Given the description of an element on the screen output the (x, y) to click on. 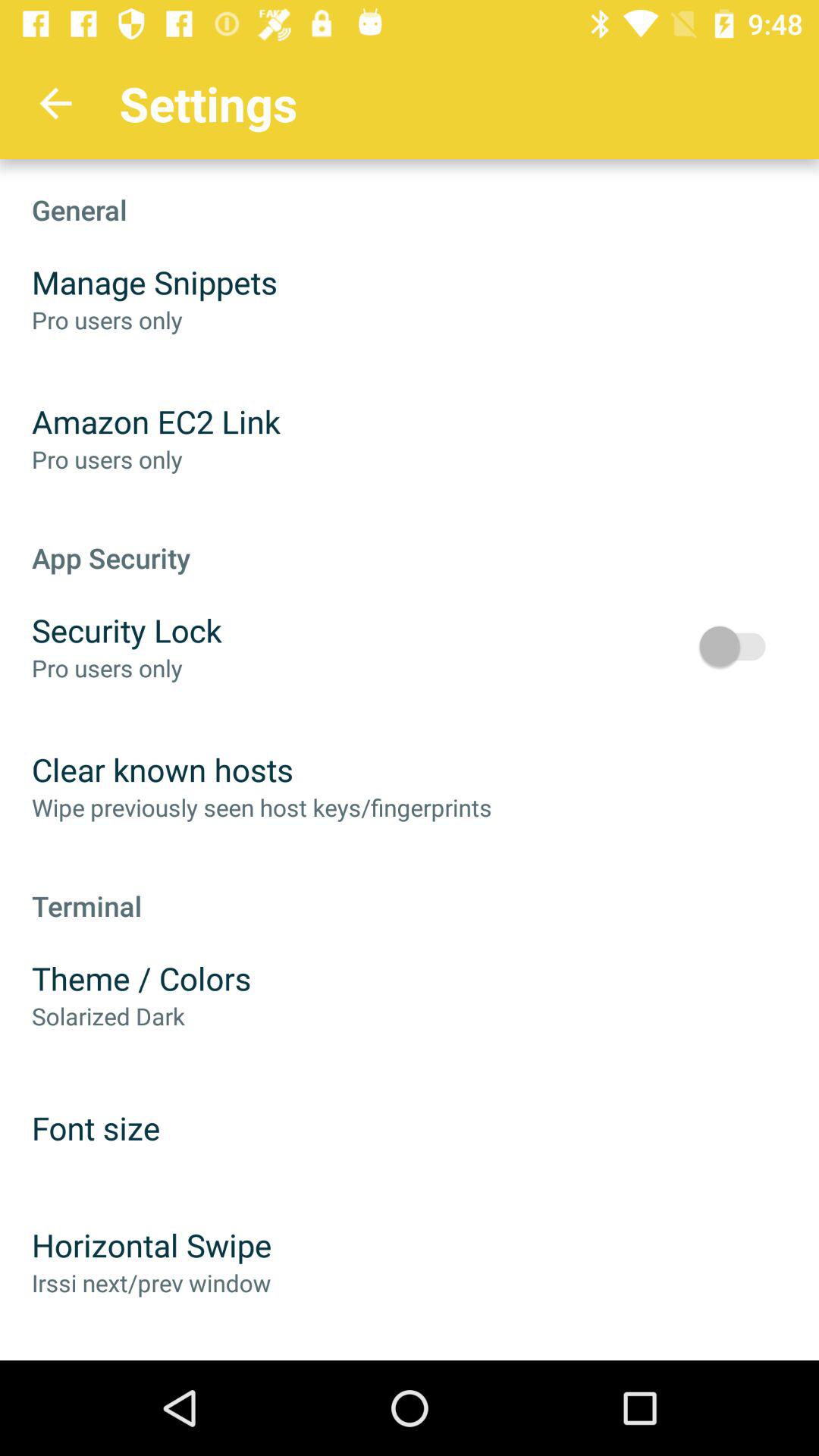
choose the app to the left of settings app (55, 103)
